Given the description of an element on the screen output the (x, y) to click on. 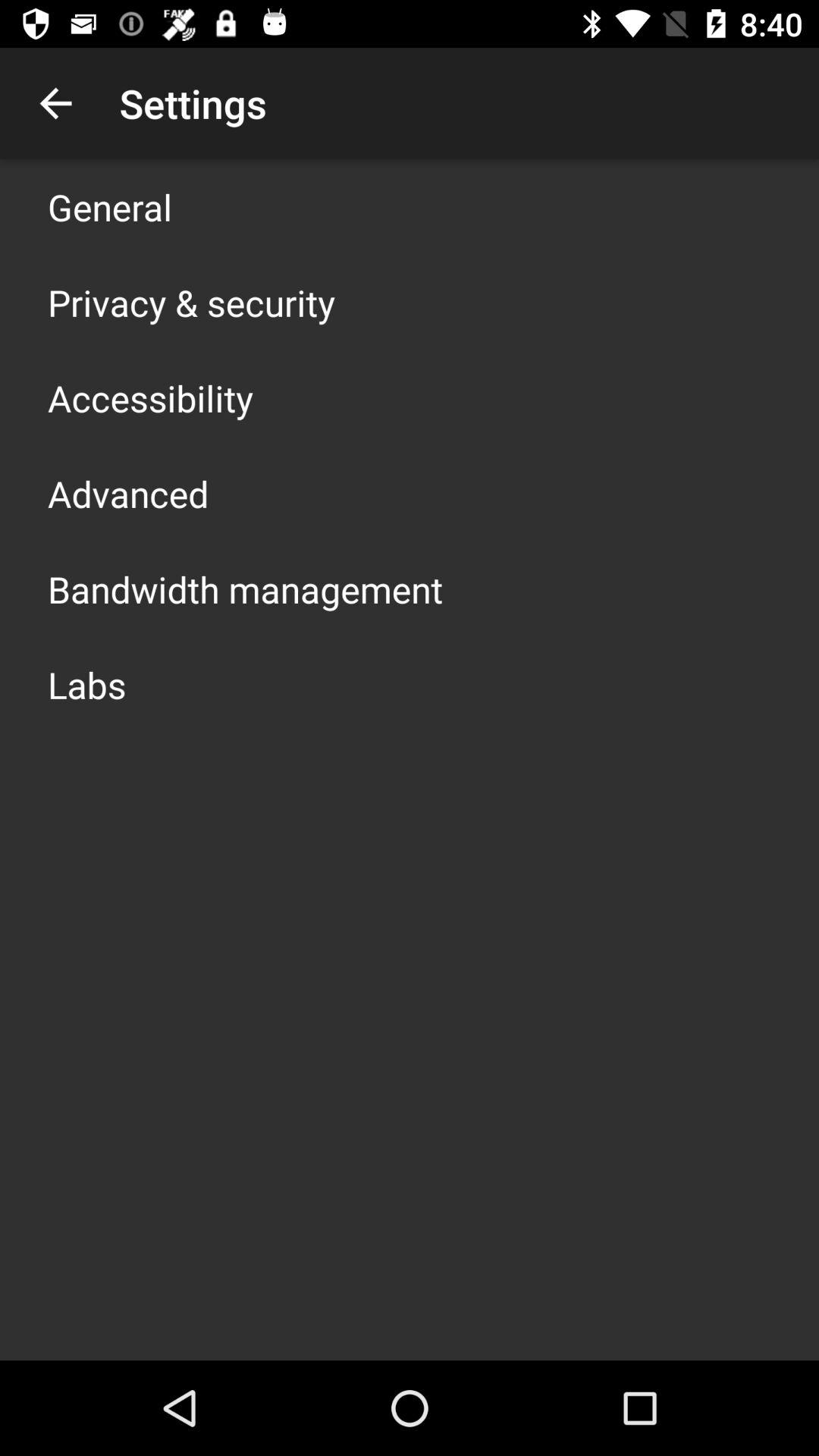
swipe to labs (86, 684)
